Given the description of an element on the screen output the (x, y) to click on. 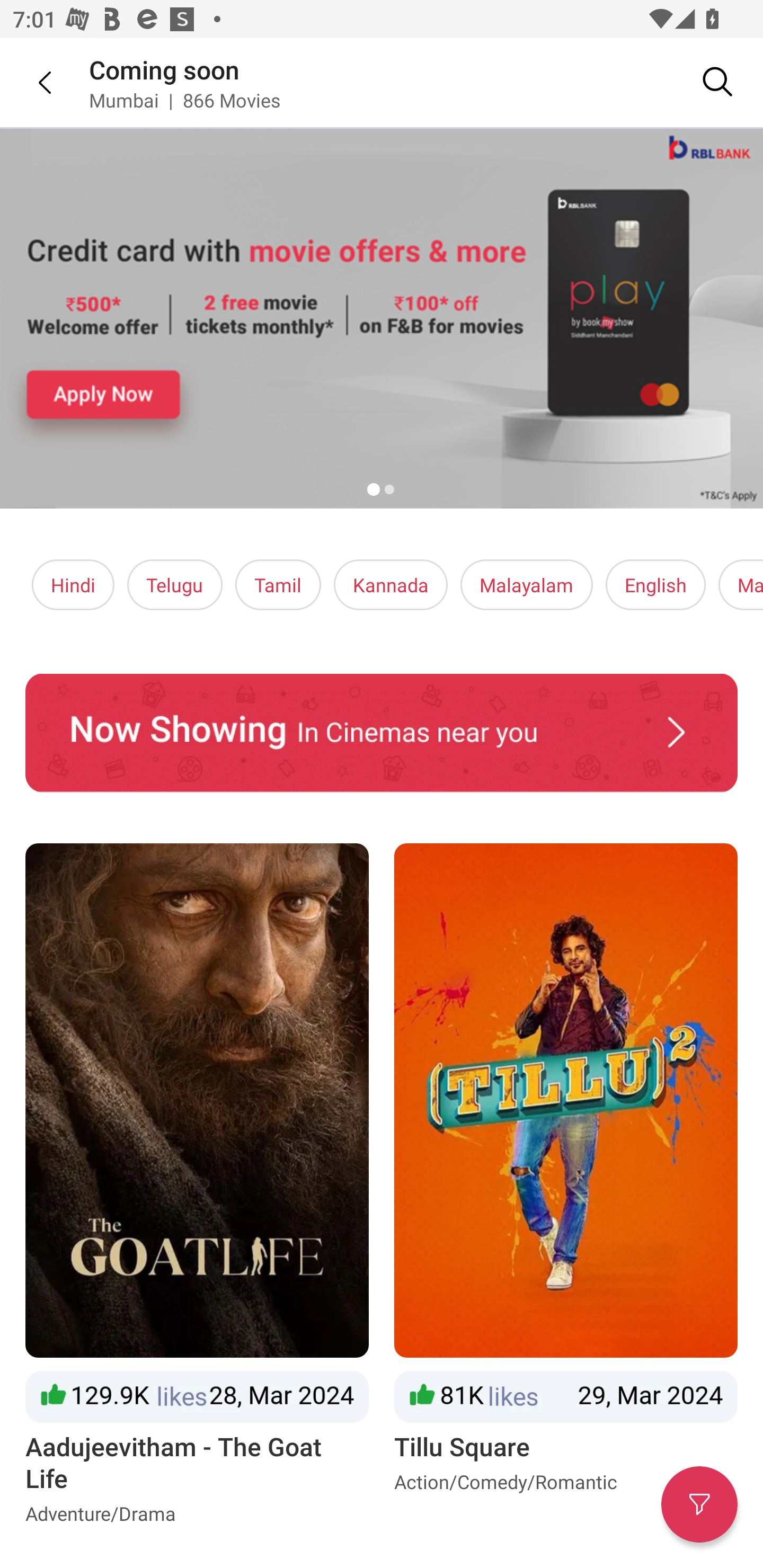
Back (31, 82)
Coming soon (164, 68)
Mumbai  |  866 Movies (184, 99)
Hindi (73, 584)
Telugu (174, 584)
Tamil (278, 584)
Kannada (390, 584)
Malayalam (526, 584)
English (655, 584)
Aadujeevitham - The Goat Life Adventure/Drama (196, 1187)
Tillu Square Action/Comedy/Romantic (565, 1187)
Filter (699, 1504)
